Given the description of an element on the screen output the (x, y) to click on. 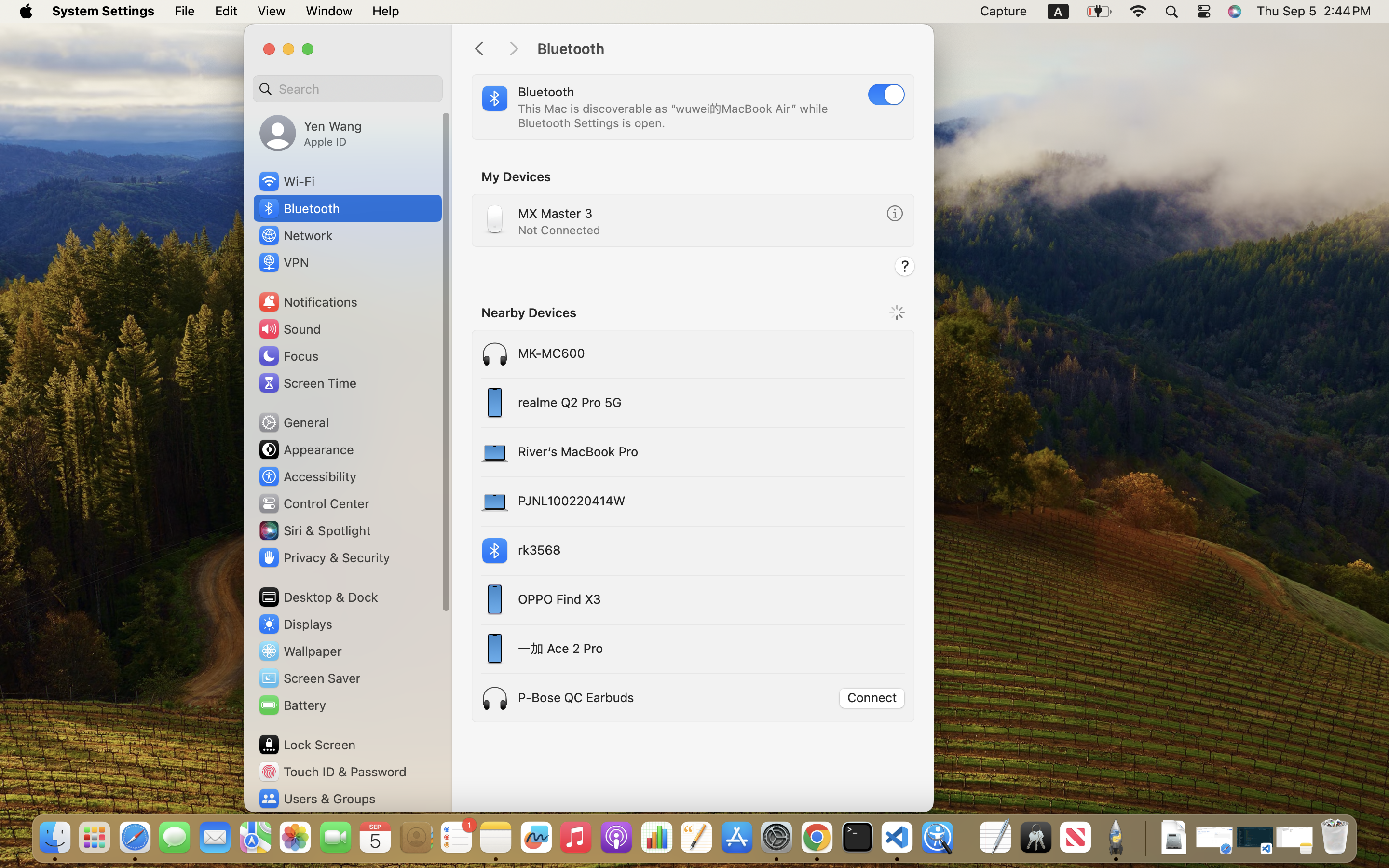
Privacy & Security Element type: AXStaticText (323, 557)
Wi‑Fi Element type: AXStaticText (285, 180)
Notifications Element type: AXStaticText (307, 301)
Appearance Element type: AXStaticText (305, 449)
Wallpaper Element type: AXStaticText (299, 650)
